Given the description of an element on the screen output the (x, y) to click on. 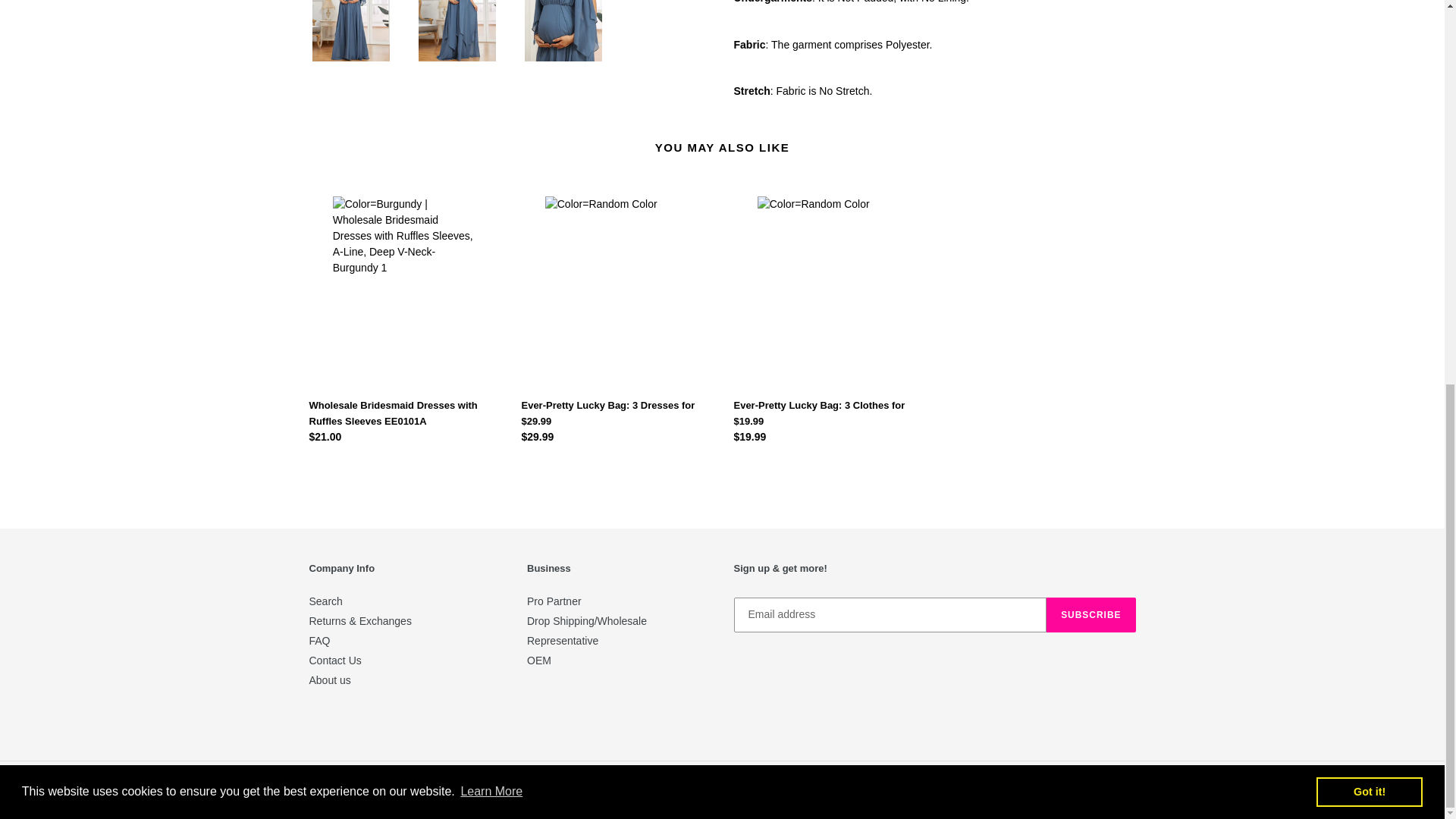
Learn More (491, 69)
Got it! (1369, 69)
